Given the description of an element on the screen output the (x, y) to click on. 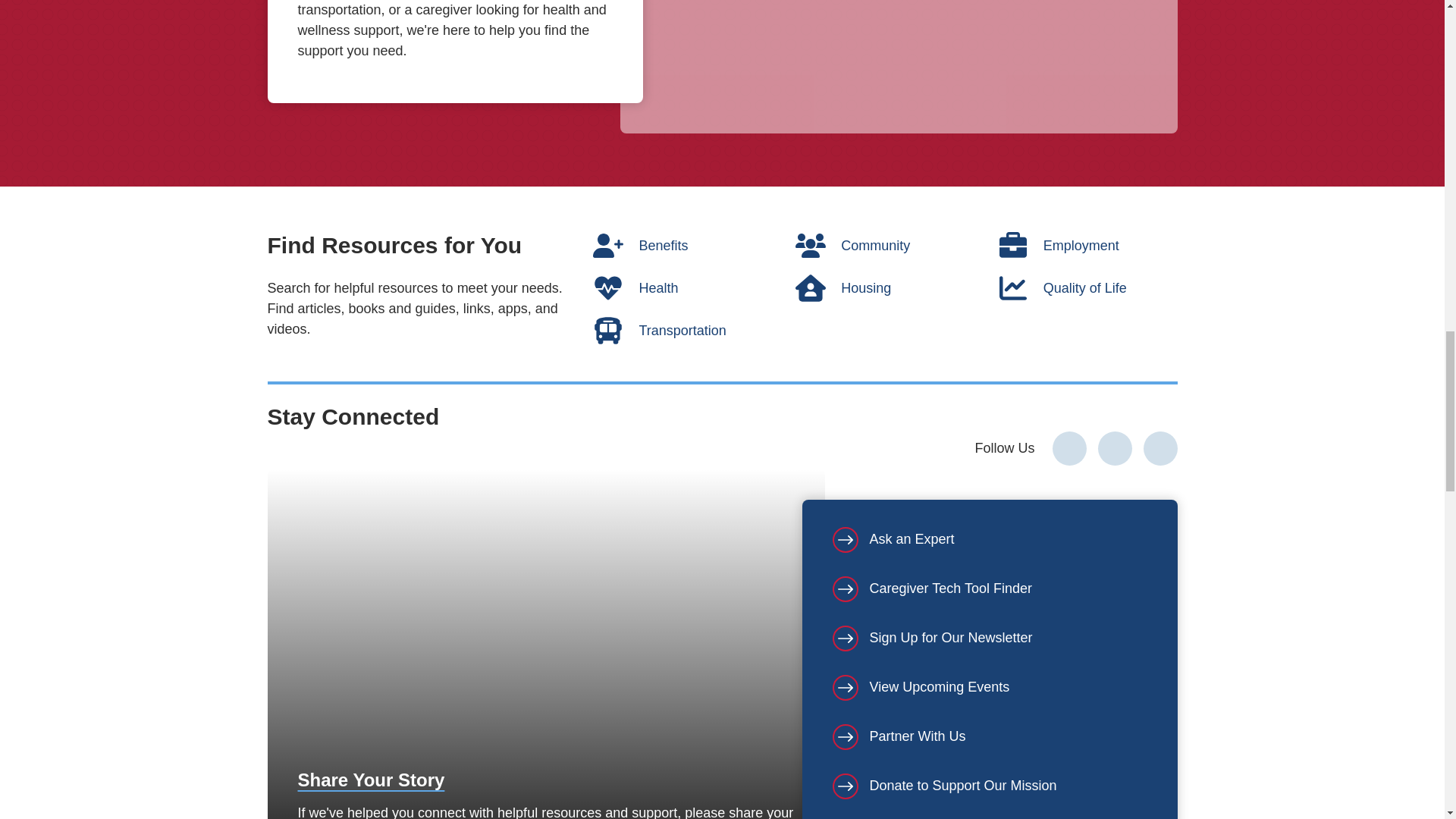
VirginiaNavigator.org (898, 66)
